Given the description of an element on the screen output the (x, y) to click on. 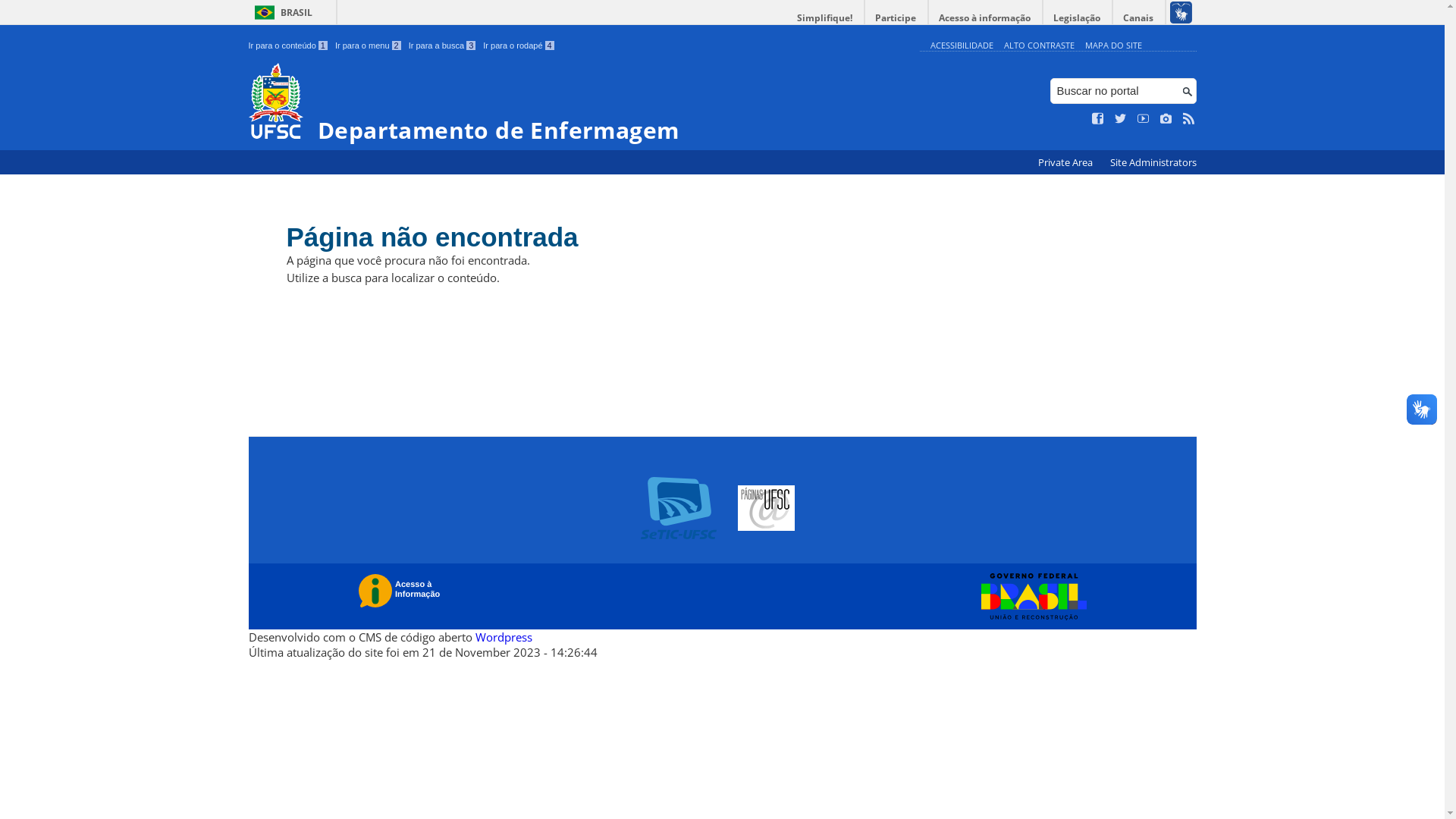
BRASIL Element type: text (280, 12)
Siga no Twitter Element type: hover (1120, 118)
Governo Federal Element type: hover (1029, 596)
ACESSIBILIDADE Element type: text (960, 44)
ALTO CONTRASTE Element type: text (1039, 44)
Veja no Instagram Element type: hover (1166, 118)
Ir para a busca 3 Element type: text (442, 45)
Canais Element type: text (1138, 18)
Participe Element type: text (895, 18)
Wordpress Element type: text (502, 636)
Simplifique! Element type: text (825, 18)
Departamento de Enfermagem Element type: text (580, 102)
Ir para o menu 2 Element type: text (368, 45)
Site Administrators Element type: text (1153, 162)
Curta no Facebook Element type: hover (1098, 118)
Private Area Element type: text (1065, 162)
MAPA DO SITE Element type: text (1112, 44)
